Given the description of an element on the screen output the (x, y) to click on. 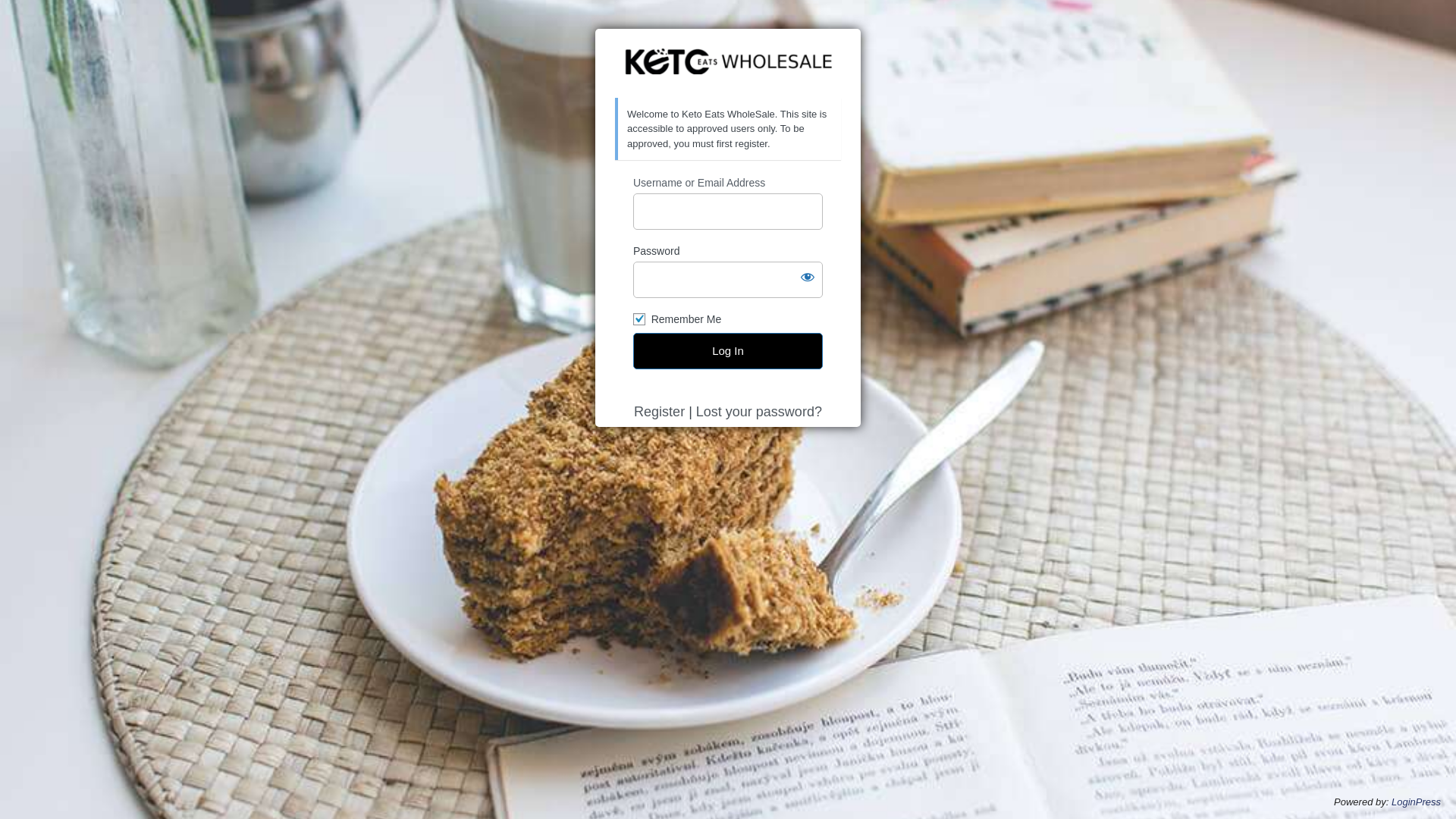
https://ketoeatswholesale.com.au Element type: text (727, 63)
Lost your password? Element type: text (759, 411)
Log In Element type: text (727, 350)
LoginPress Element type: text (1415, 801)
Register Element type: text (658, 411)
